Given the description of an element on the screen output the (x, y) to click on. 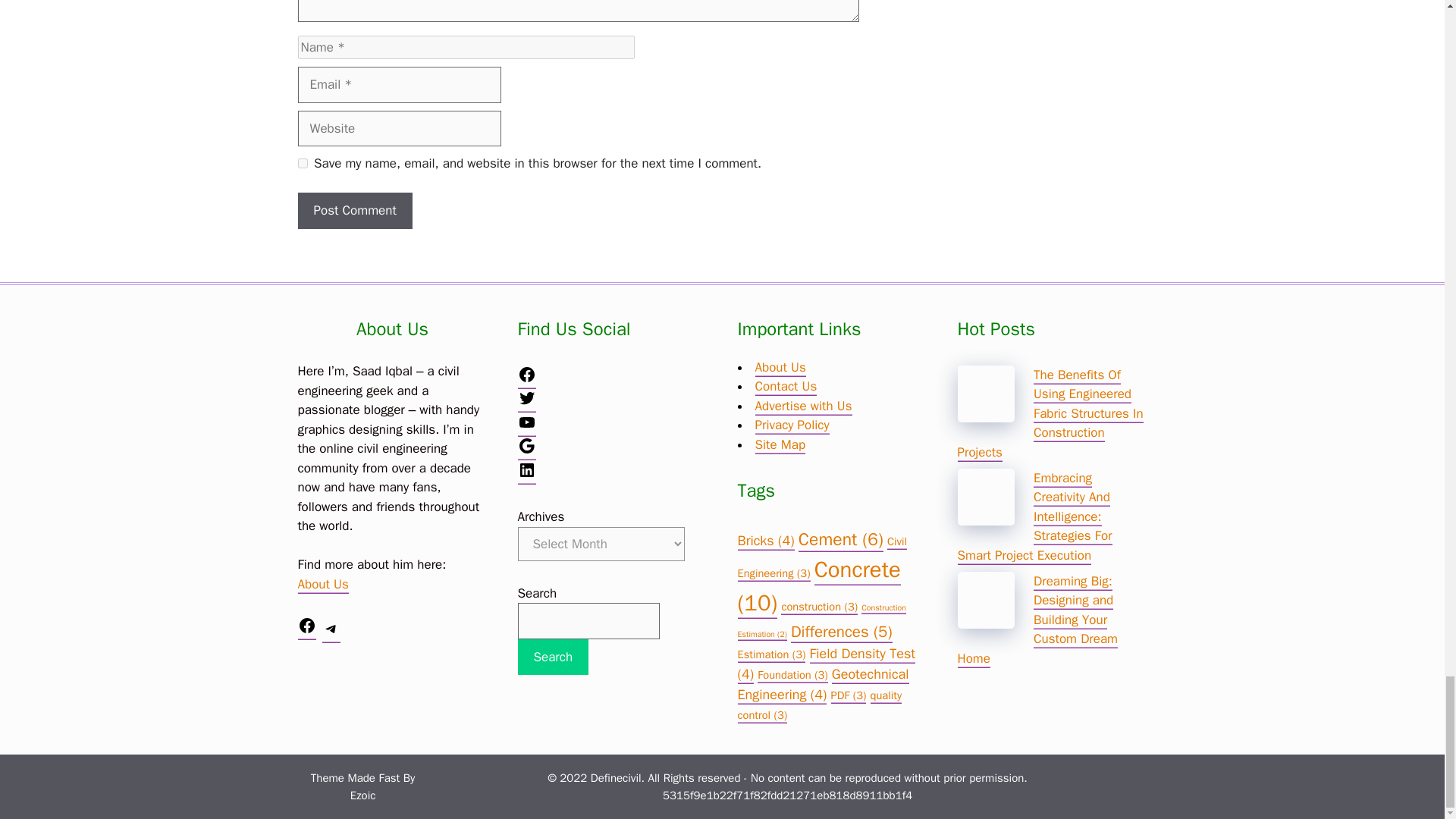
Post Comment (354, 210)
Post Comment (354, 210)
yes (302, 163)
